Given the description of an element on the screen output the (x, y) to click on. 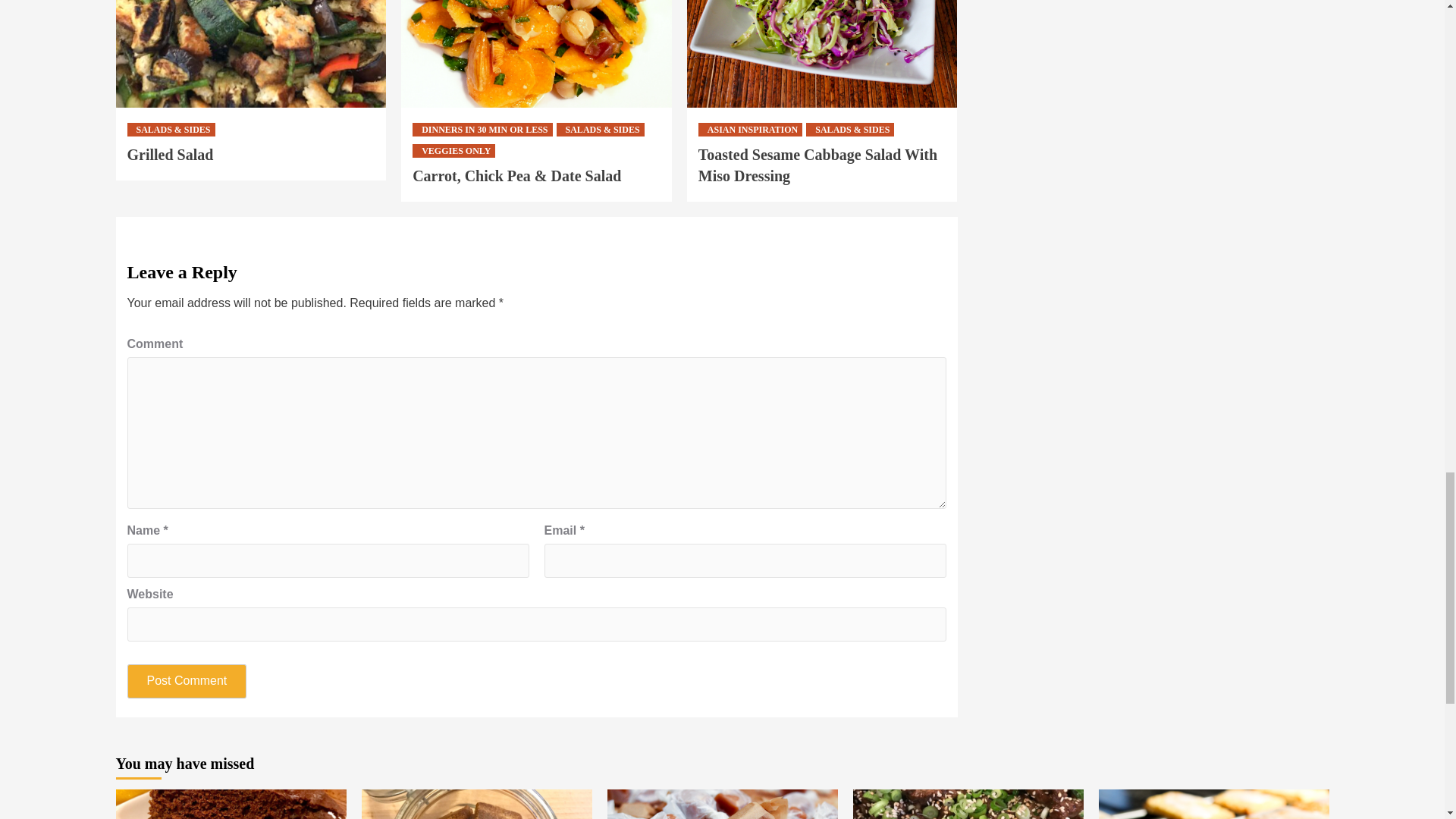
Post Comment (187, 681)
DINNERS IN 30 MIN OR LESS (481, 129)
Post Comment (187, 681)
VEGGIES ONLY (453, 151)
Toasted Sesame Cabbage Salad With Miso Dressing (817, 165)
ASIAN INSPIRATION (750, 129)
Grilled Salad (171, 154)
